Given the description of an element on the screen output the (x, y) to click on. 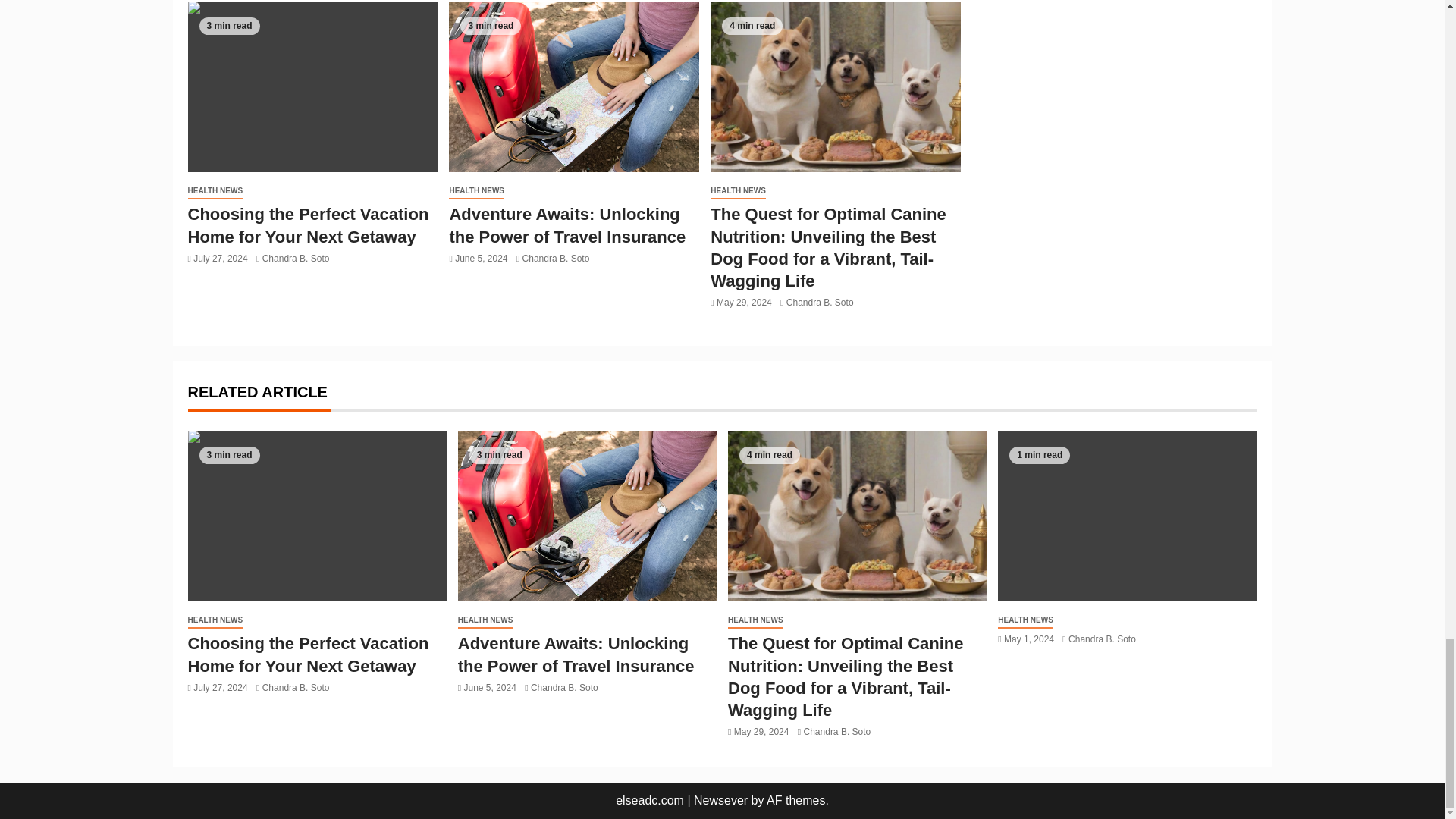
Choosing the Perfect Vacation Home for Your Next Getaway (316, 515)
Adventure Awaits: Unlocking the Power of Travel Insurance (587, 515)
Choosing the Perfect Vacation Home for Your Next Getaway (312, 86)
Adventure Awaits: Unlocking the Power of Travel Insurance (573, 86)
